Given the description of an element on the screen output the (x, y) to click on. 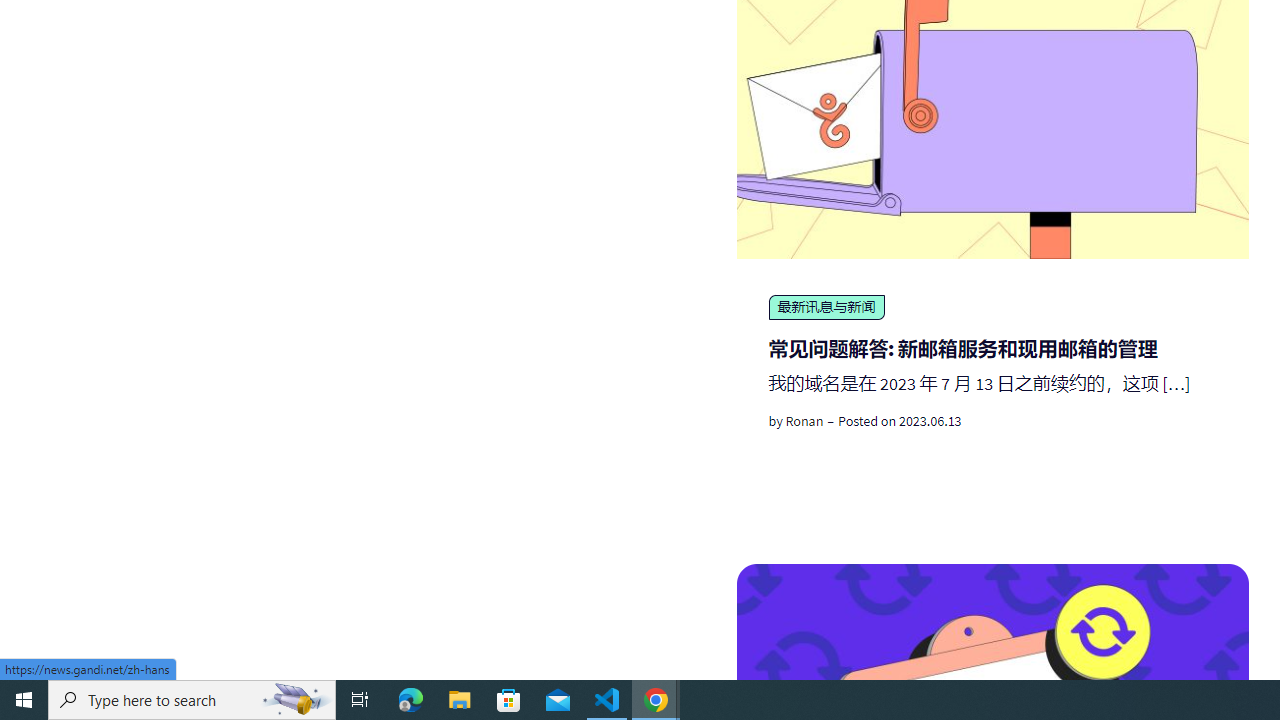
Ronan (804, 421)
